Given the description of an element on the screen output the (x, y) to click on. 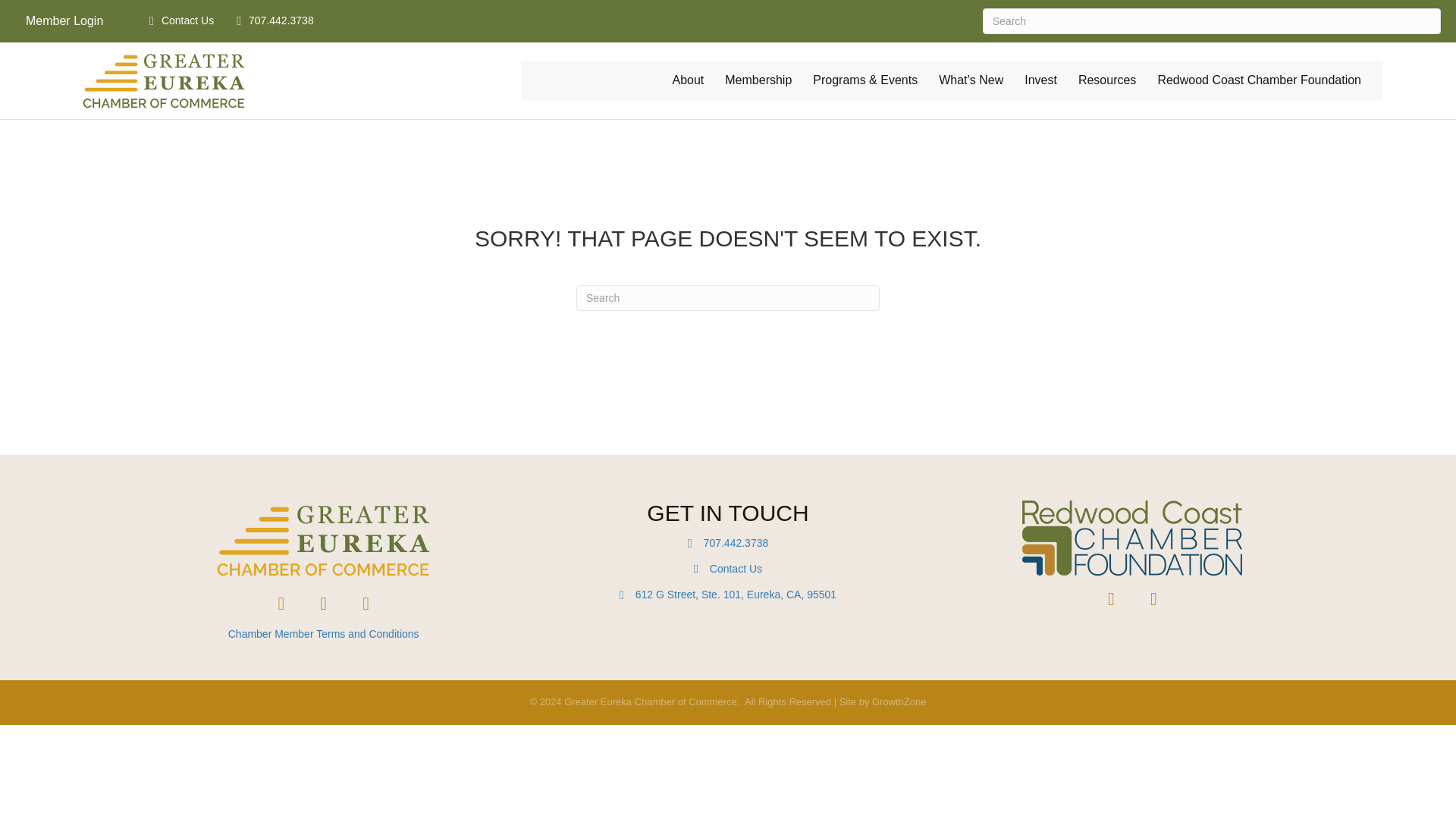
Type and press Enter to search. (727, 298)
Member Login (63, 21)
707.442.3738 (270, 21)
Greater Eureka Chamber of Commerce new logo transparent (323, 539)
Type and press Enter to search. (1211, 21)
Redwood Coast Chamber Foundation Logo-290 (1131, 537)
Contact Us (177, 21)
About (687, 79)
